Given the description of an element on the screen output the (x, y) to click on. 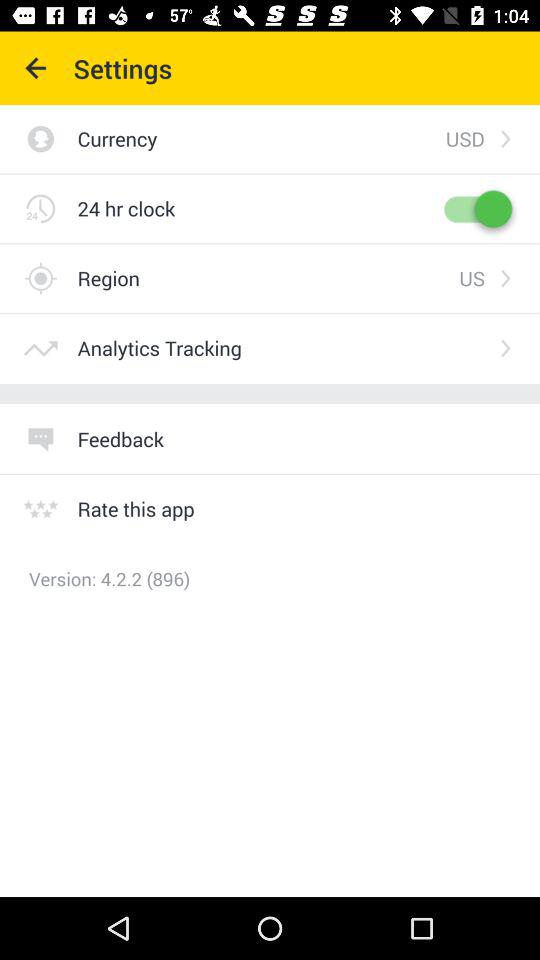
select the item to the right of 24 hr clock (475, 208)
